Given the description of an element on the screen output the (x, y) to click on. 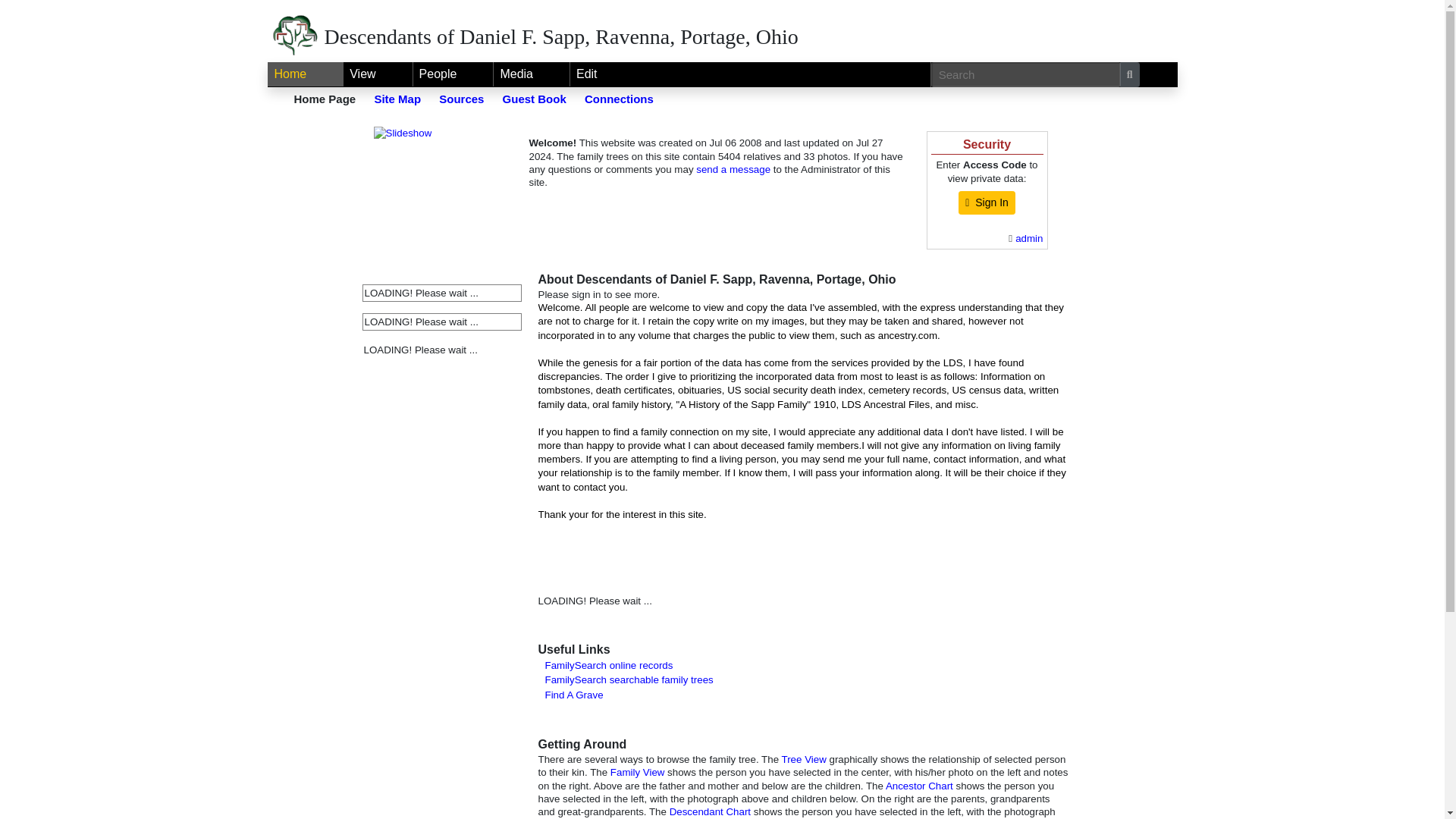
Sign In (986, 202)
Connections (619, 98)
Site Map (397, 98)
Edit (587, 74)
View (377, 74)
send a message (732, 169)
People (453, 74)
Guest Book (534, 98)
Media (531, 74)
Sources (461, 98)
Home (305, 74)
Email Administrator (1028, 238)
